Given the description of an element on the screen output the (x, y) to click on. 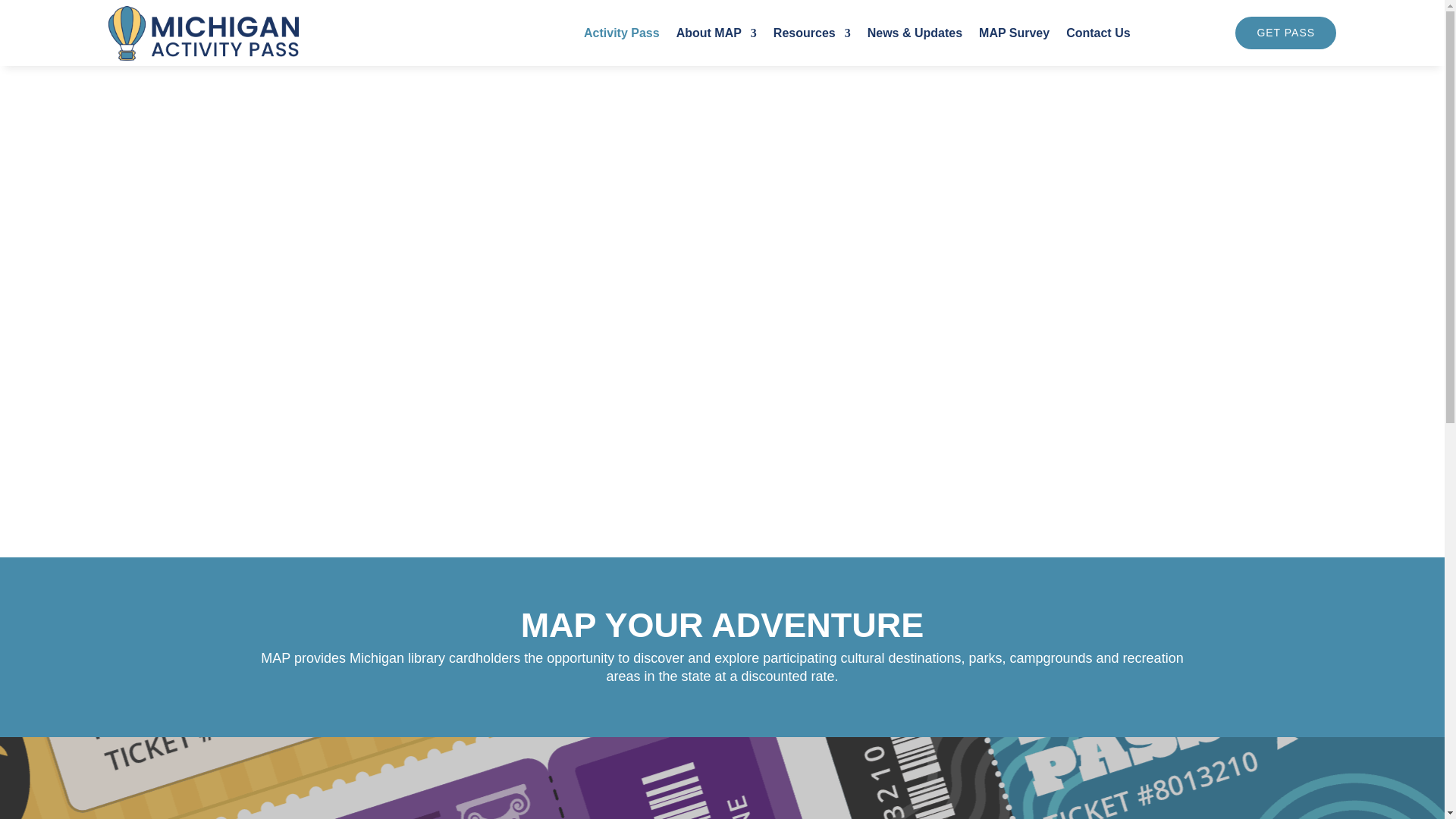
GET PASS (1285, 32)
Contact Us (1097, 32)
Activity Pass (621, 32)
Resources (811, 32)
About MAP (717, 32)
MAP Survey (1013, 32)
